Given the description of an element on the screen output the (x, y) to click on. 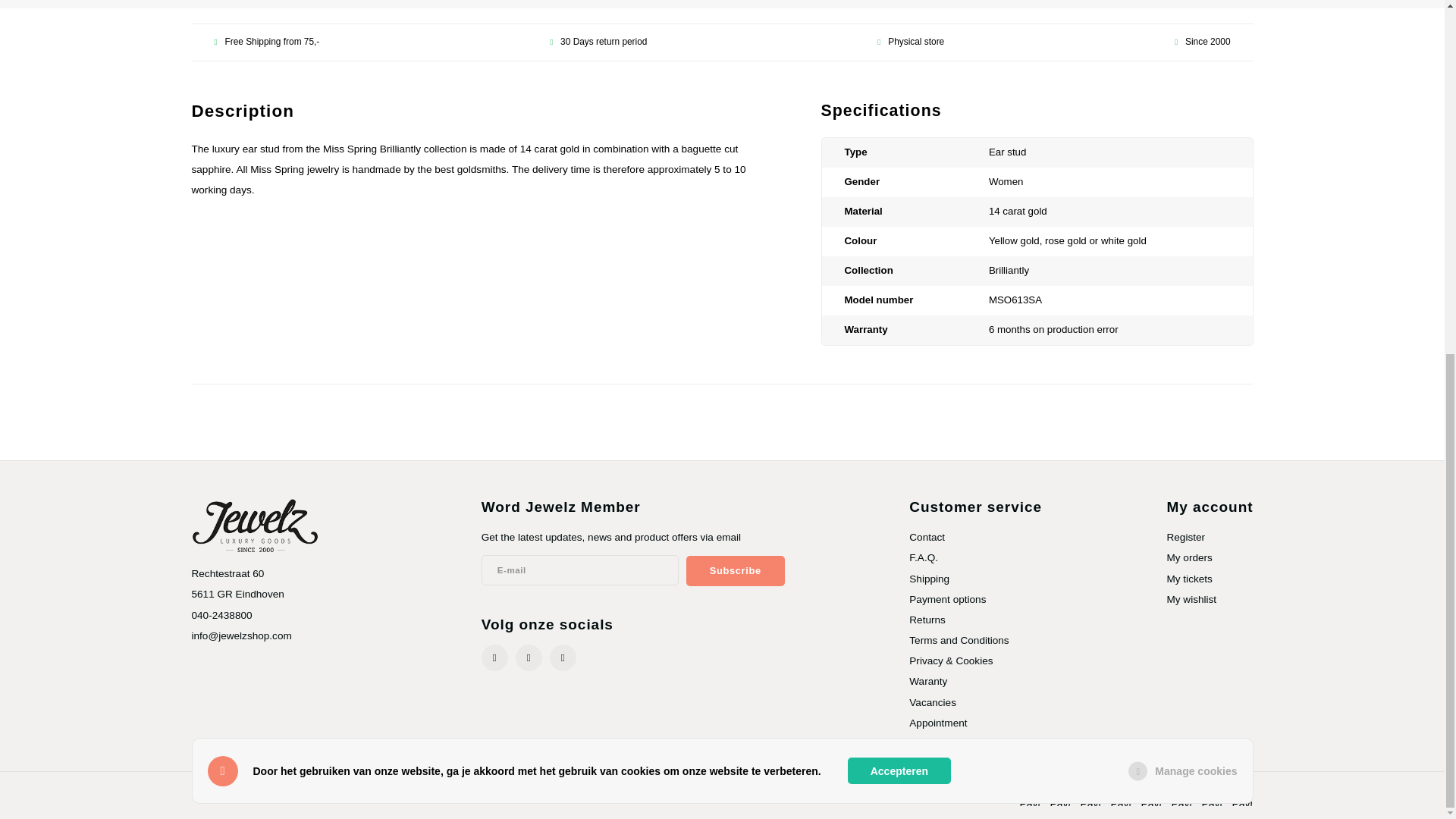
My wishlist (1190, 599)
Instagram Jewelz (528, 657)
My orders (1188, 557)
My tickets (1188, 578)
Akkoord (898, 151)
Register (1185, 536)
Subscribe (734, 571)
